Given the description of an element on the screen output the (x, y) to click on. 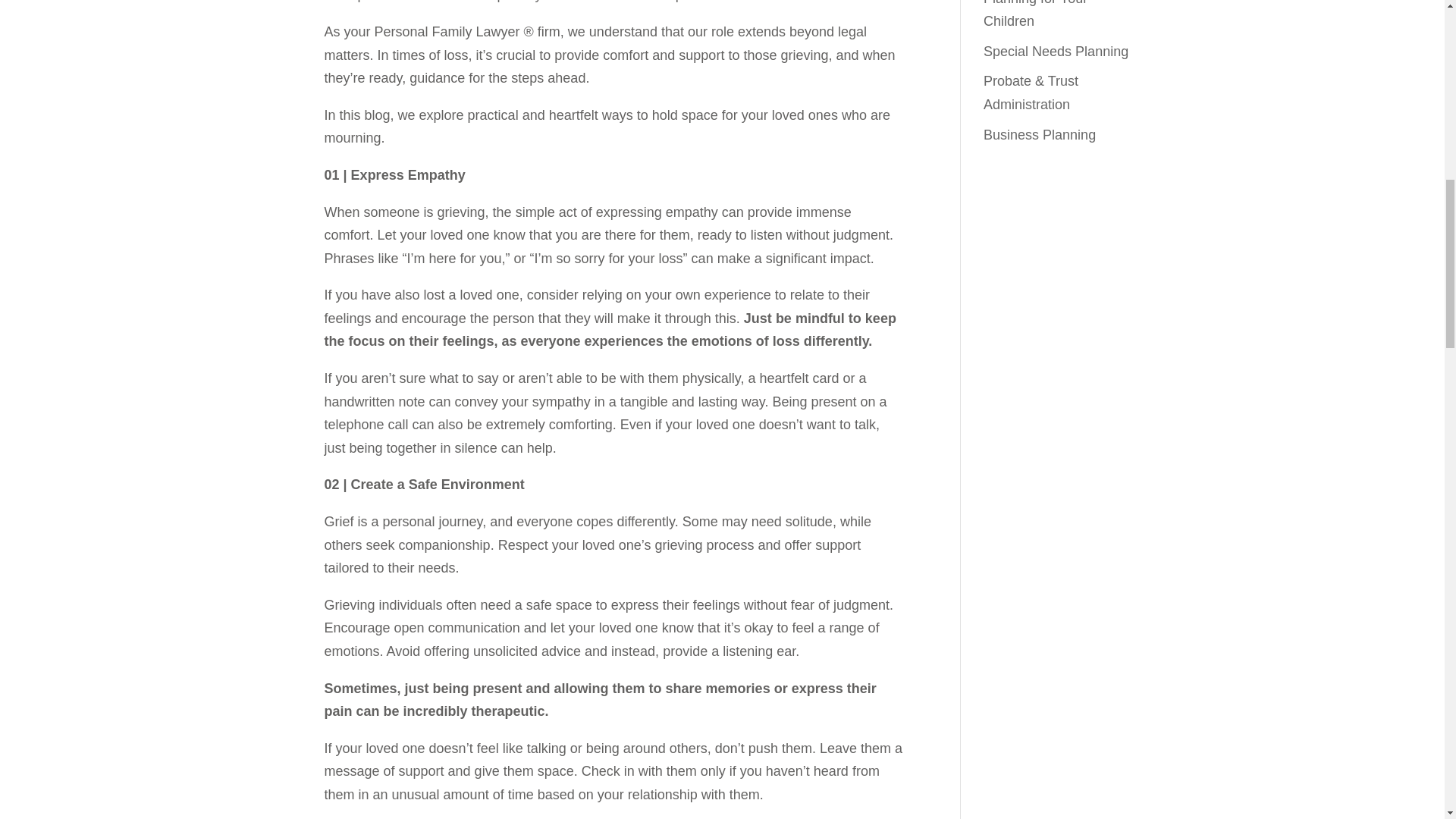
Business Planning (1040, 134)
Planning for Your Children (1035, 14)
Special Needs Planning (1056, 51)
